Given the description of an element on the screen output the (x, y) to click on. 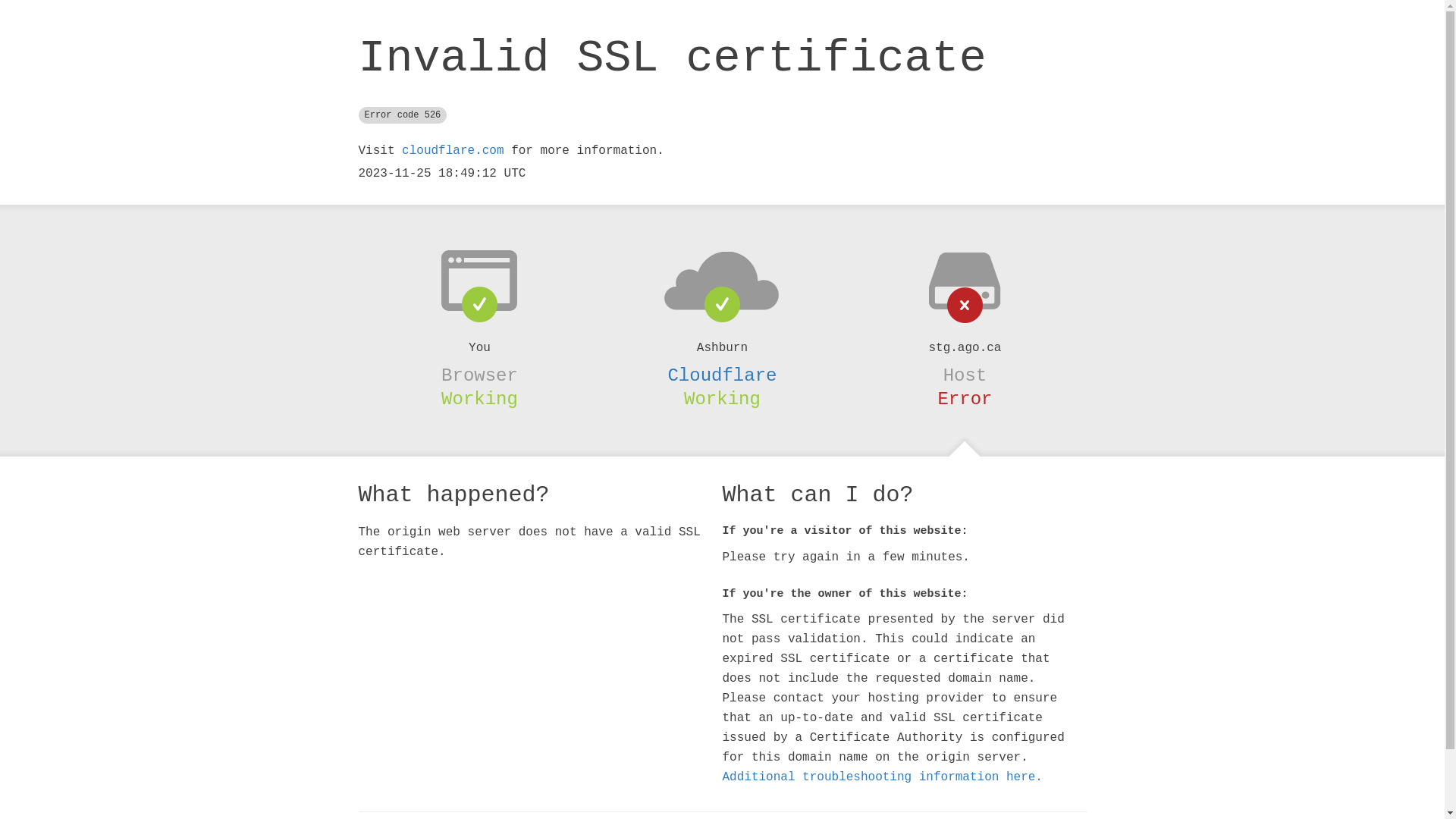
Additional troubleshooting information here. Element type: text (881, 777)
cloudflare.com Element type: text (452, 150)
Cloudflare Element type: text (721, 375)
